Given the description of an element on the screen output the (x, y) to click on. 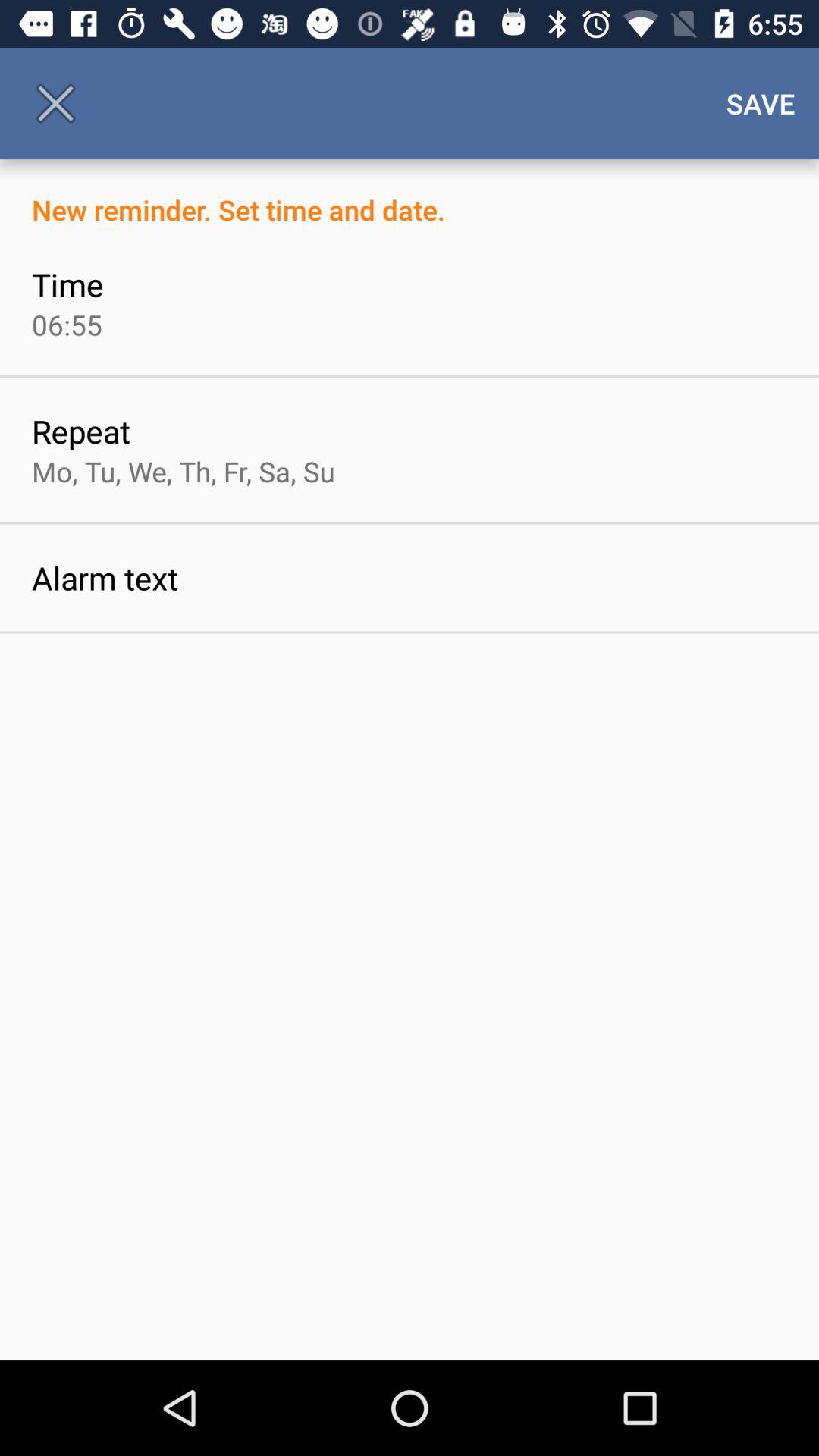
open alarm text (104, 577)
